Given the description of an element on the screen output the (x, y) to click on. 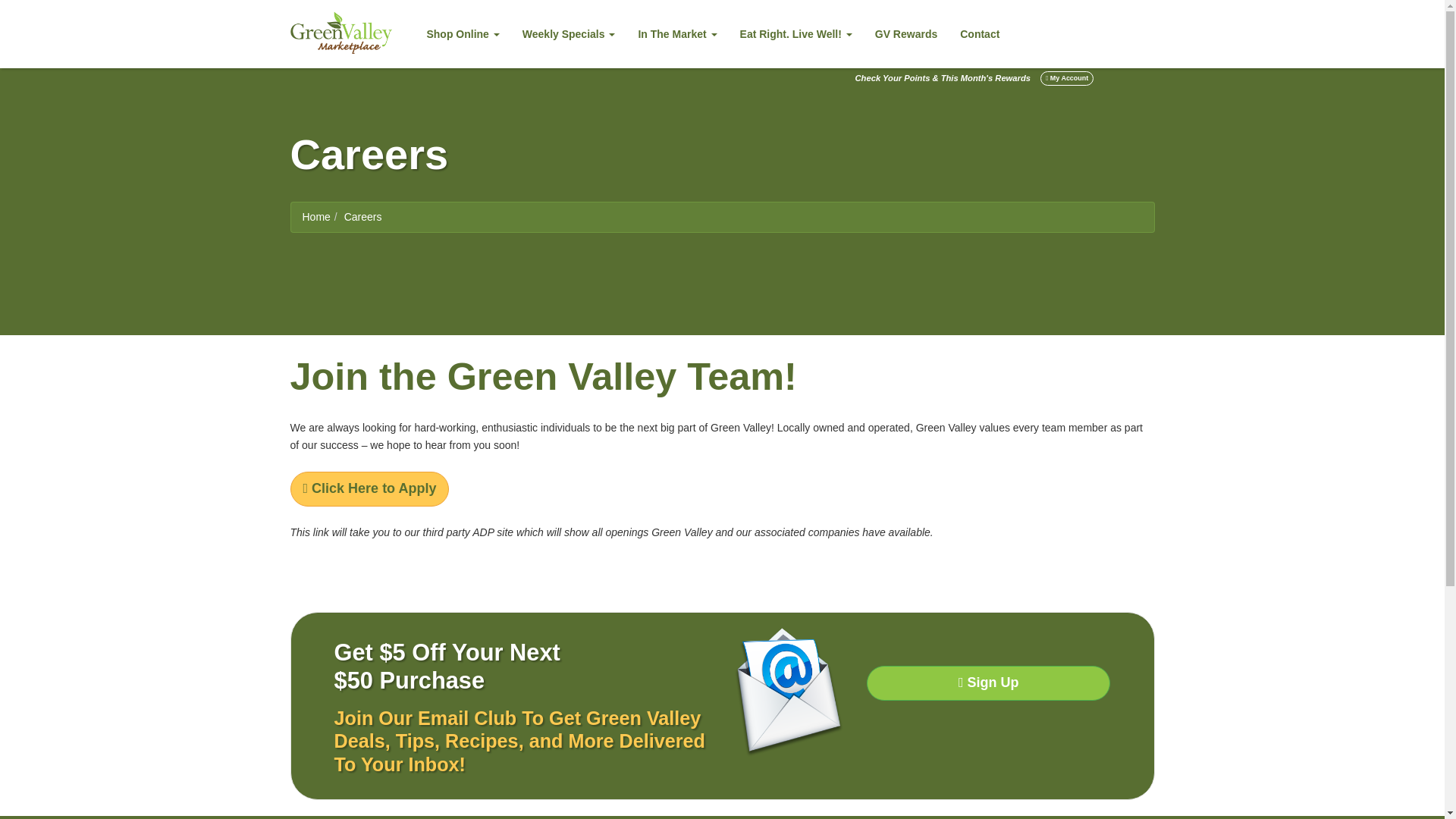
Contact (979, 33)
Eat Right. Live Well! (796, 33)
GV Rewards (906, 33)
Shop Online (462, 33)
In The Market (677, 33)
Home (315, 216)
Click Here to Apply (368, 488)
My Account (1067, 78)
Sign Up (987, 683)
Green Valley Marketplace (340, 32)
Weekly Specials (569, 33)
